Given the description of an element on the screen output the (x, y) to click on. 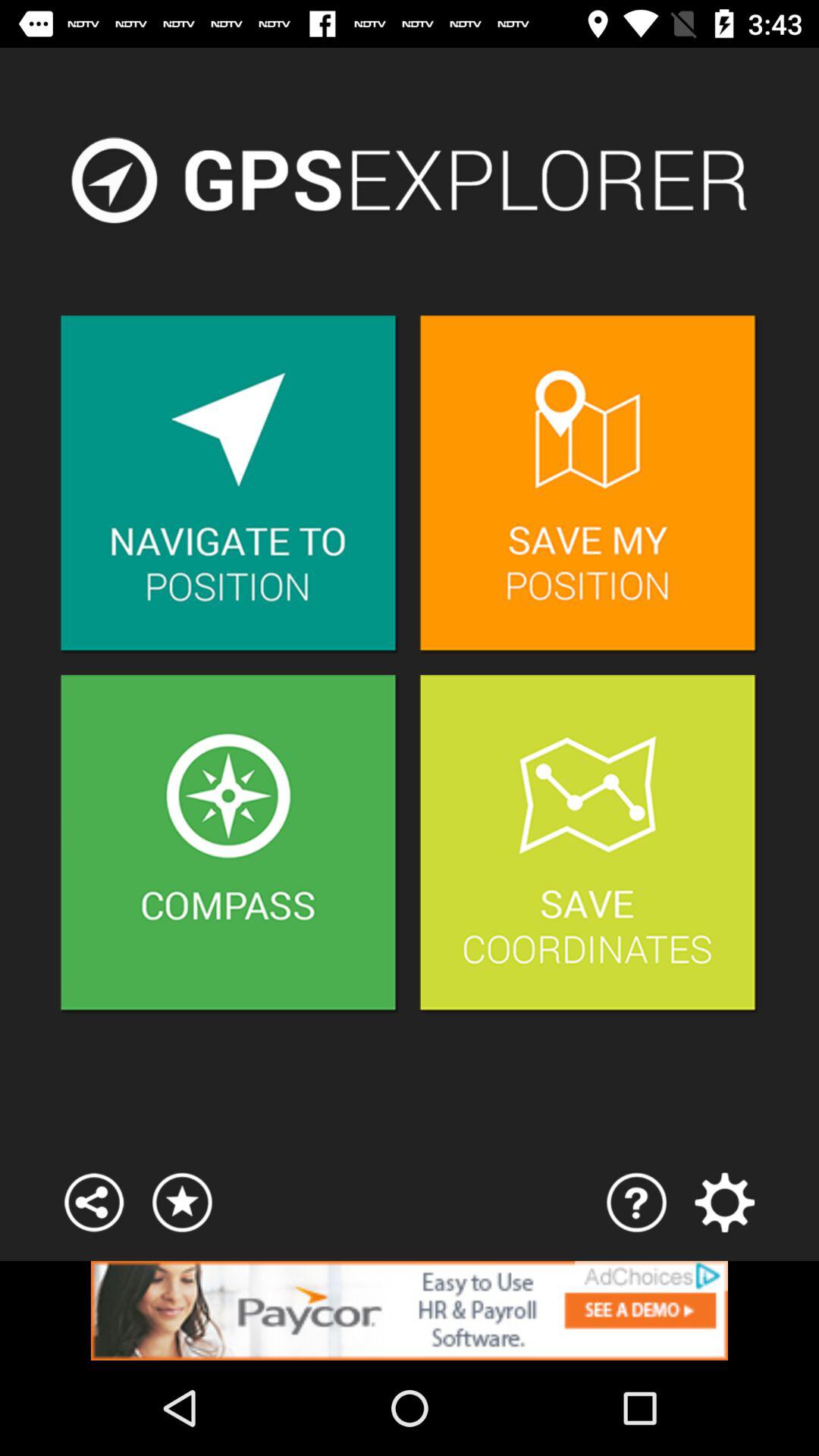
share content (93, 1202)
